Given the description of an element on the screen output the (x, y) to click on. 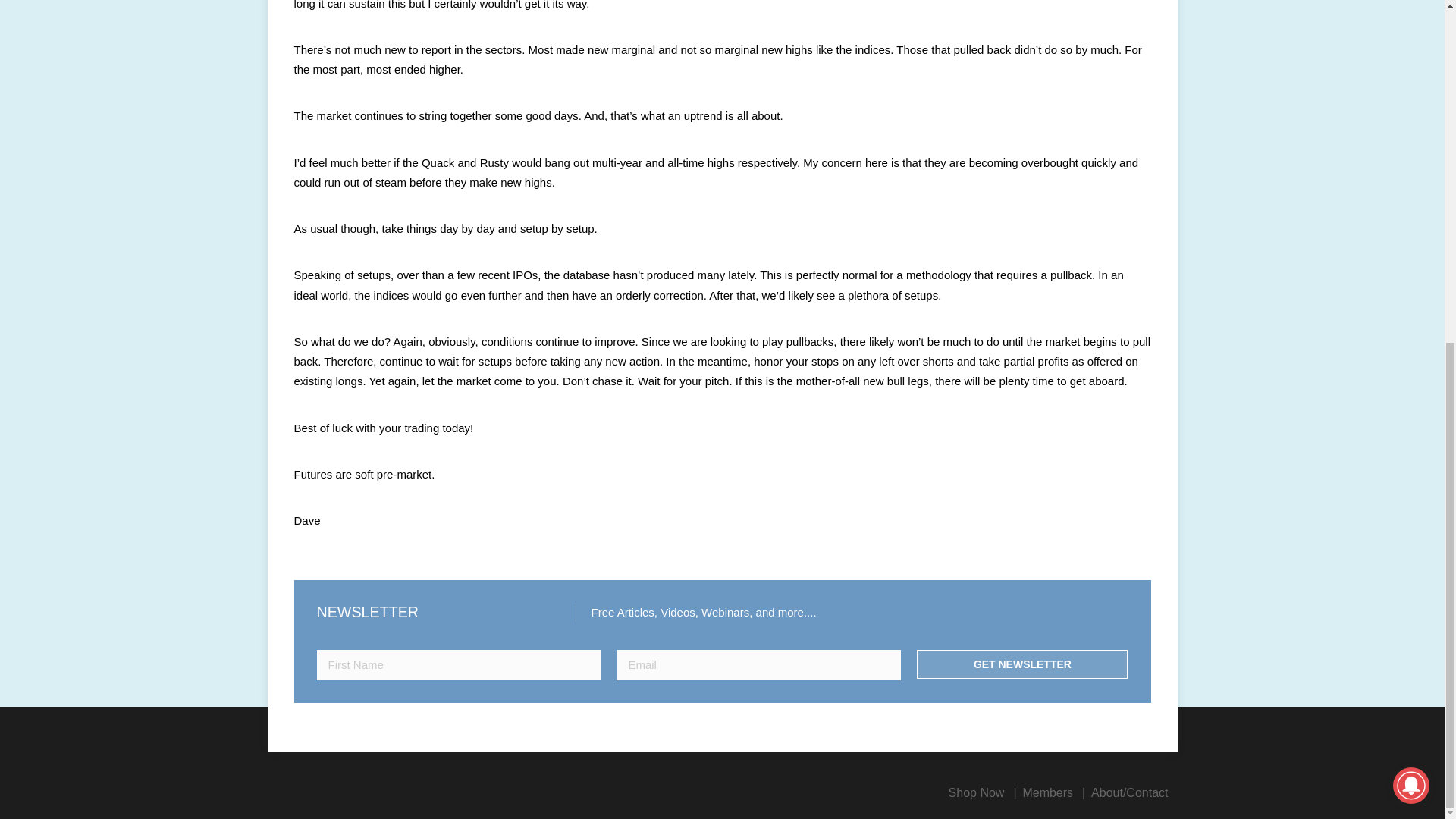
Members (1047, 792)
Get Newsletter (1021, 663)
Get Newsletter (1021, 663)
Shop Now (976, 792)
